Given the description of an element on the screen output the (x, y) to click on. 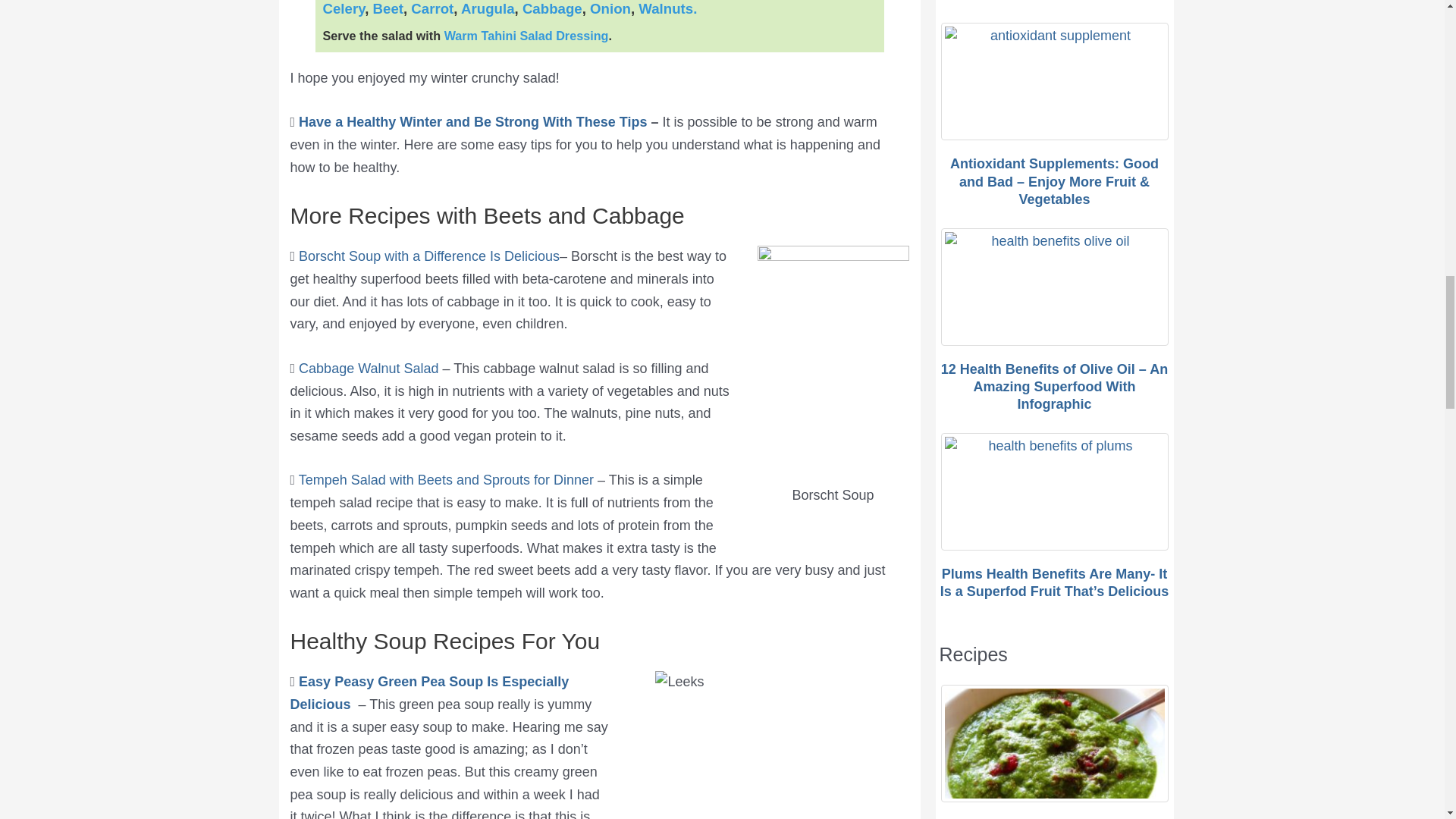
Walnuts: The Crinkly Powerfood (668, 8)
Celery for Weight Loss, Bloody Marys, and Calm (344, 8)
